Given the description of an element on the screen output the (x, y) to click on. 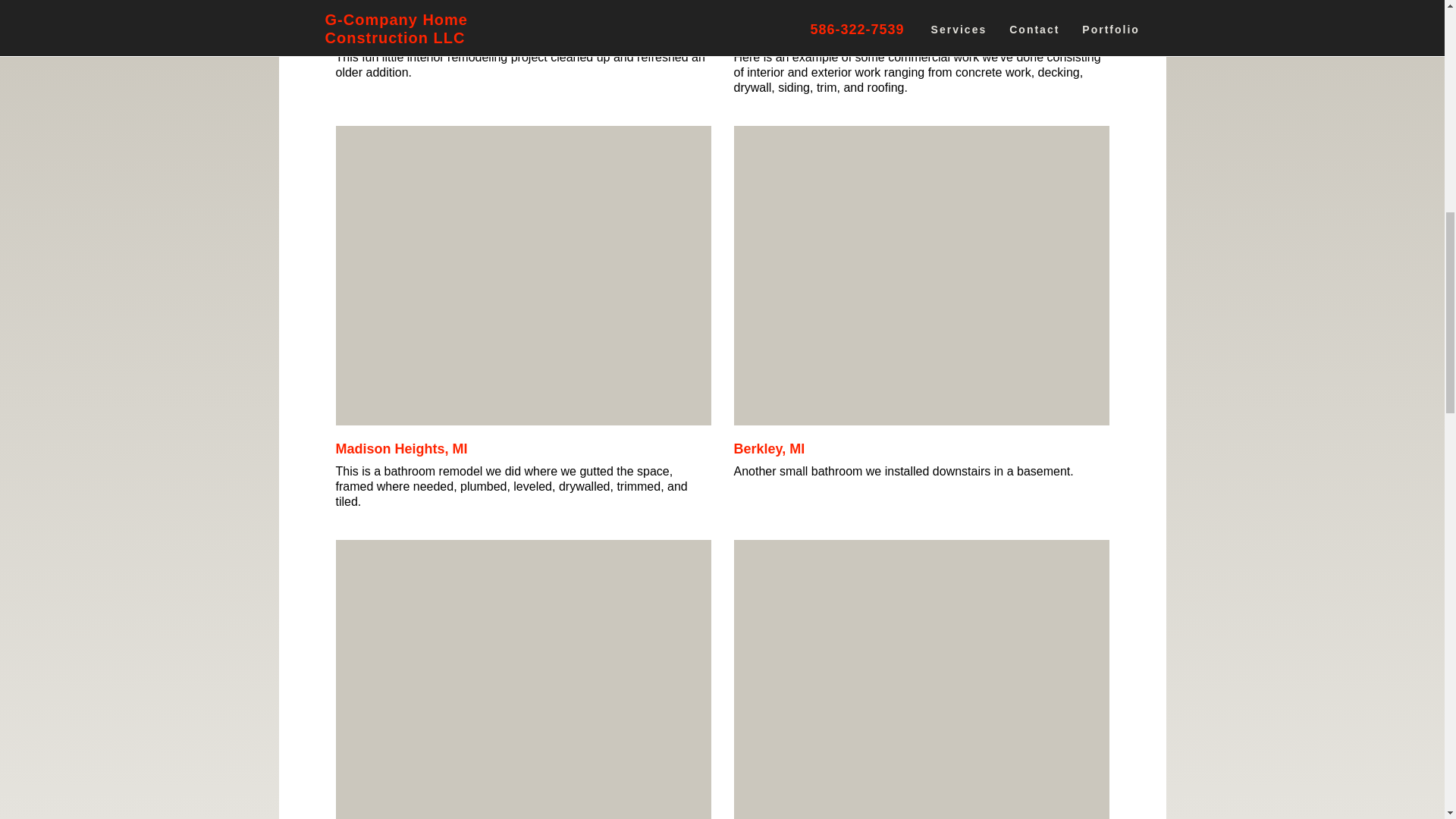
Madison Heights, MI (400, 448)
Berkley, MI (769, 448)
Ferndale, MI (374, 34)
Bumpers Landing (791, 34)
